Given the description of an element on the screen output the (x, y) to click on. 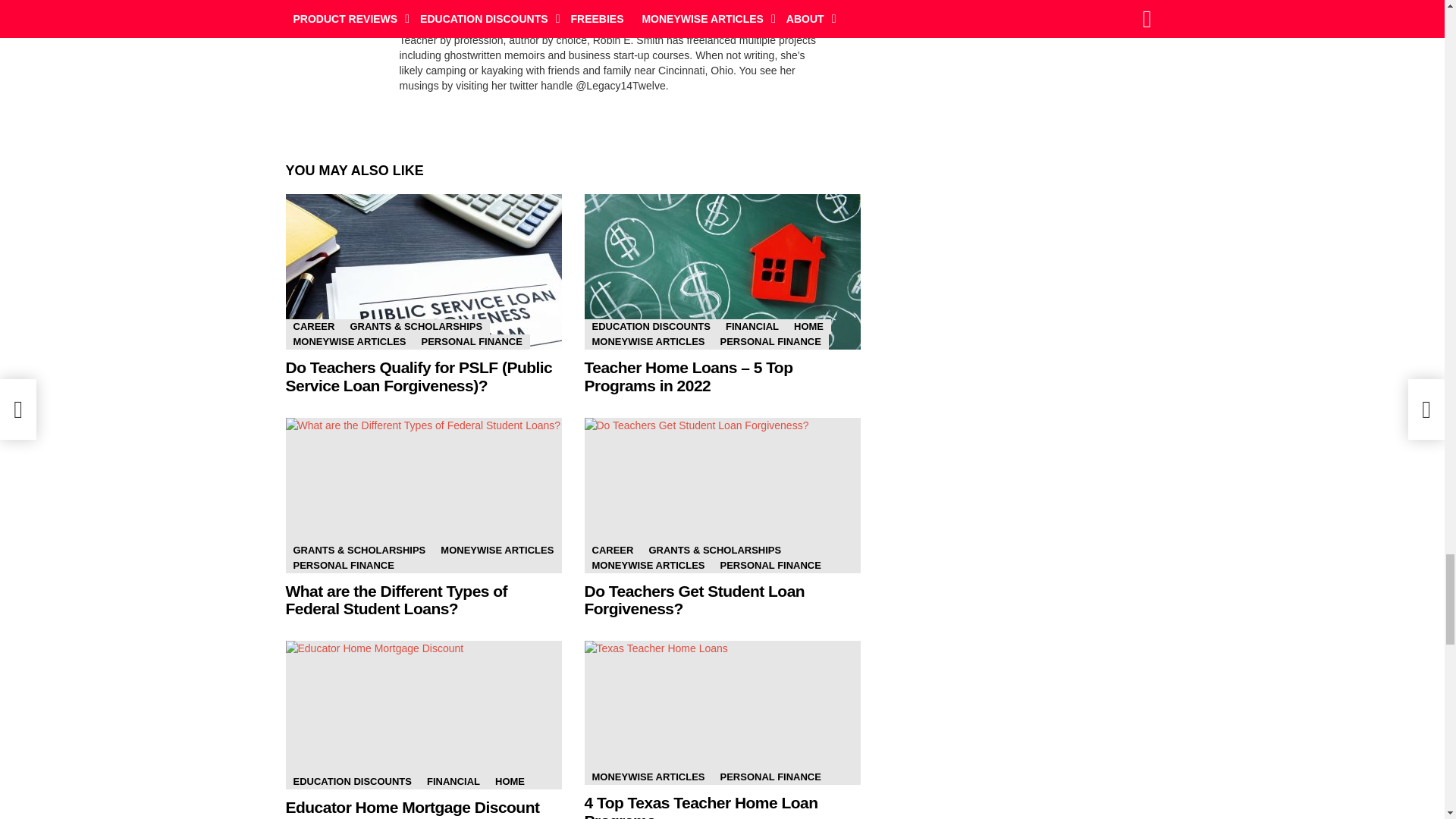
What are the Different Types of Federal Student Loans? (422, 495)
Educator Home Mortgage Discount Program (422, 714)
Do Teachers Get Student Loan Forgiveness? (721, 495)
4 Top Texas Teacher Home Loan Programs (721, 712)
